Given the description of an element on the screen output the (x, y) to click on. 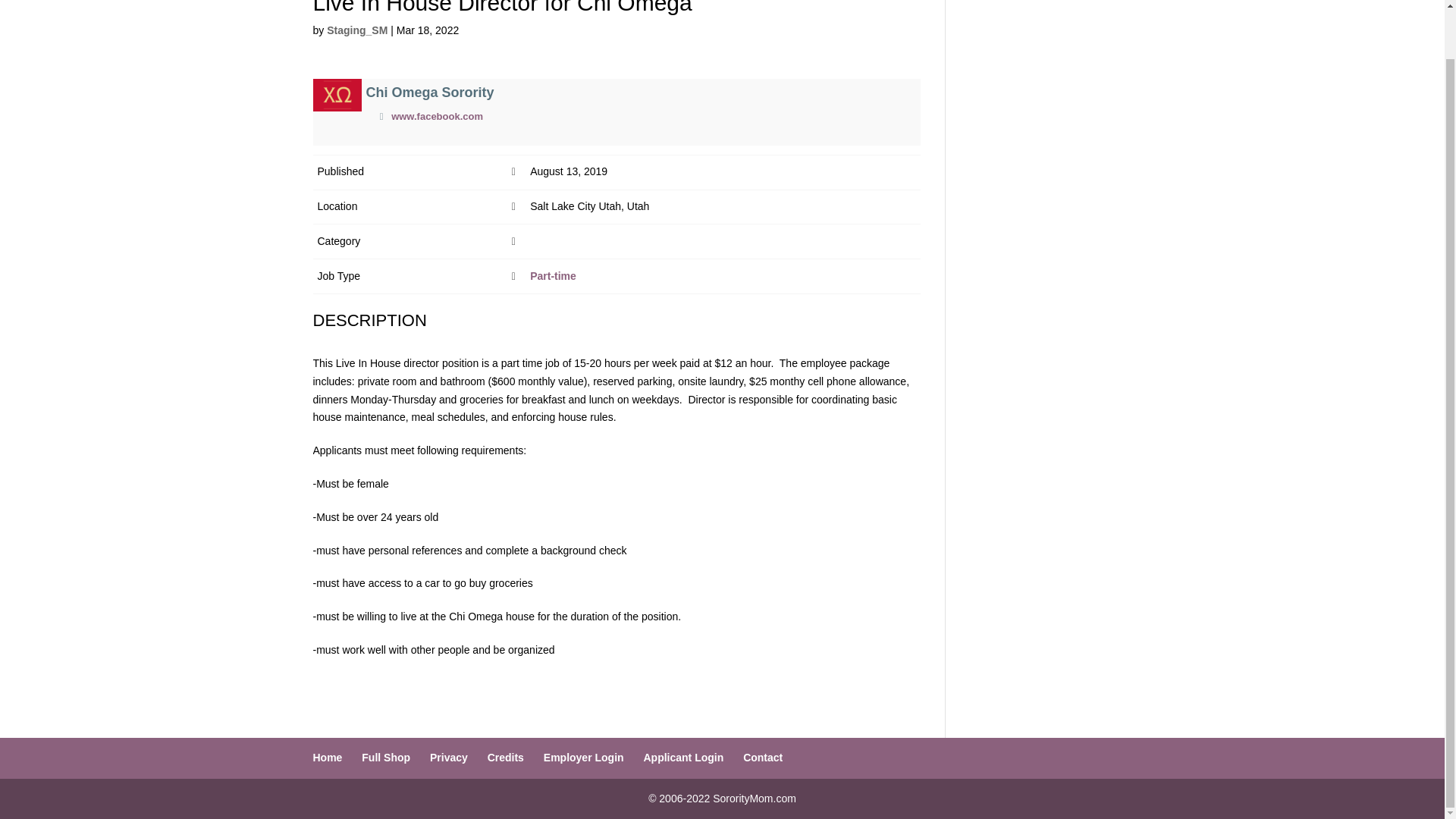
Credits (505, 757)
Full Shop (385, 757)
Privacy (448, 757)
Home (327, 757)
Employer Login (583, 757)
Contact (762, 757)
www.facebook.com (437, 116)
Applicant Login (683, 757)
Part-time (552, 275)
